Given the description of an element on the screen output the (x, y) to click on. 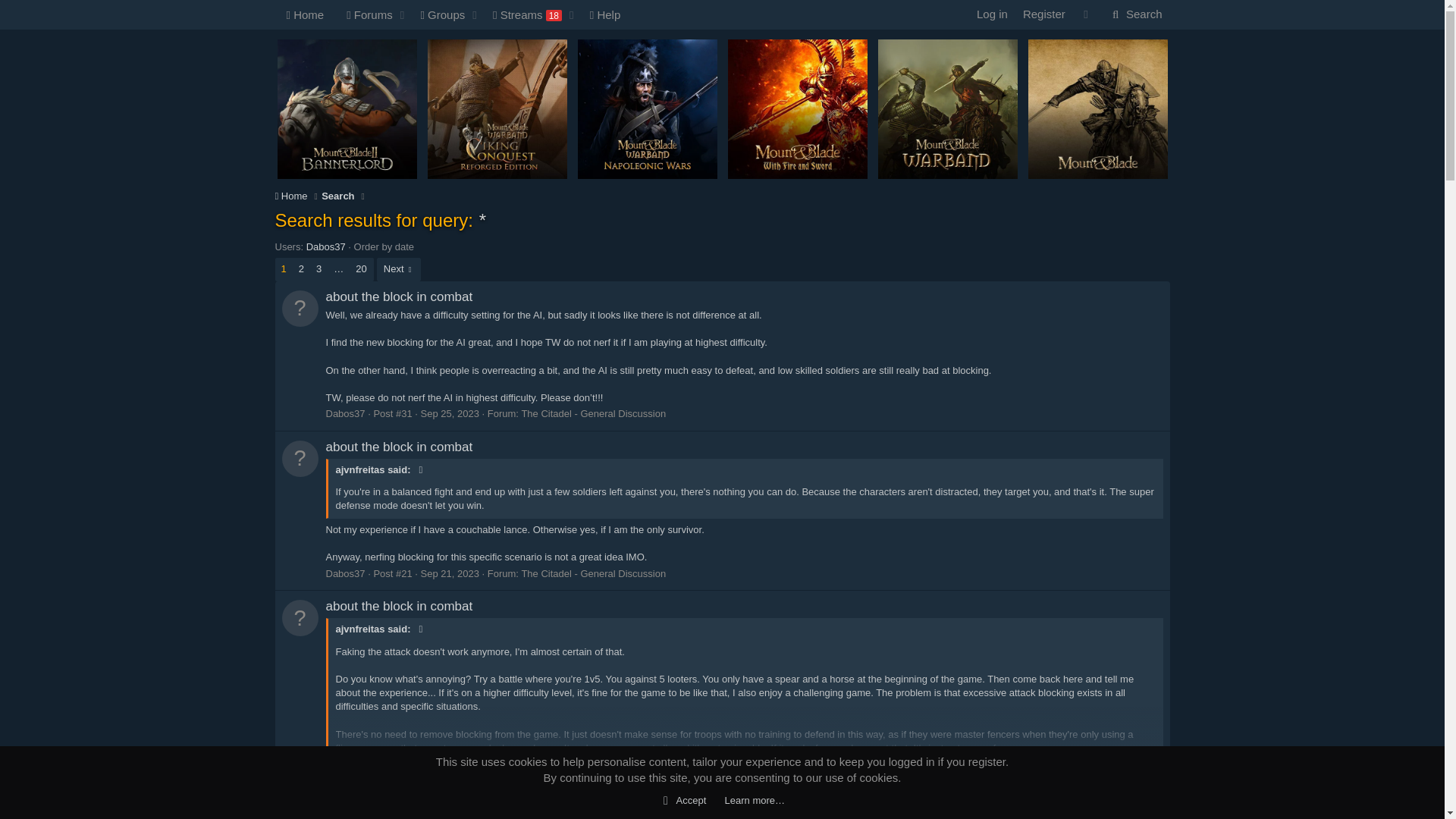
Groups (438, 14)
Streams 18 (522, 14)
Help (604, 14)
Log in (452, 31)
Sep 20, 2023 at 8:51 PM (991, 13)
Search (449, 805)
Forums (452, 14)
Search (1135, 14)
Sep 25, 2023 at 8:46 AM (364, 14)
Register (1135, 14)
Sep 21, 2023 at 6:13 PM (449, 413)
Home (1043, 13)
